Given the description of an element on the screen output the (x, y) to click on. 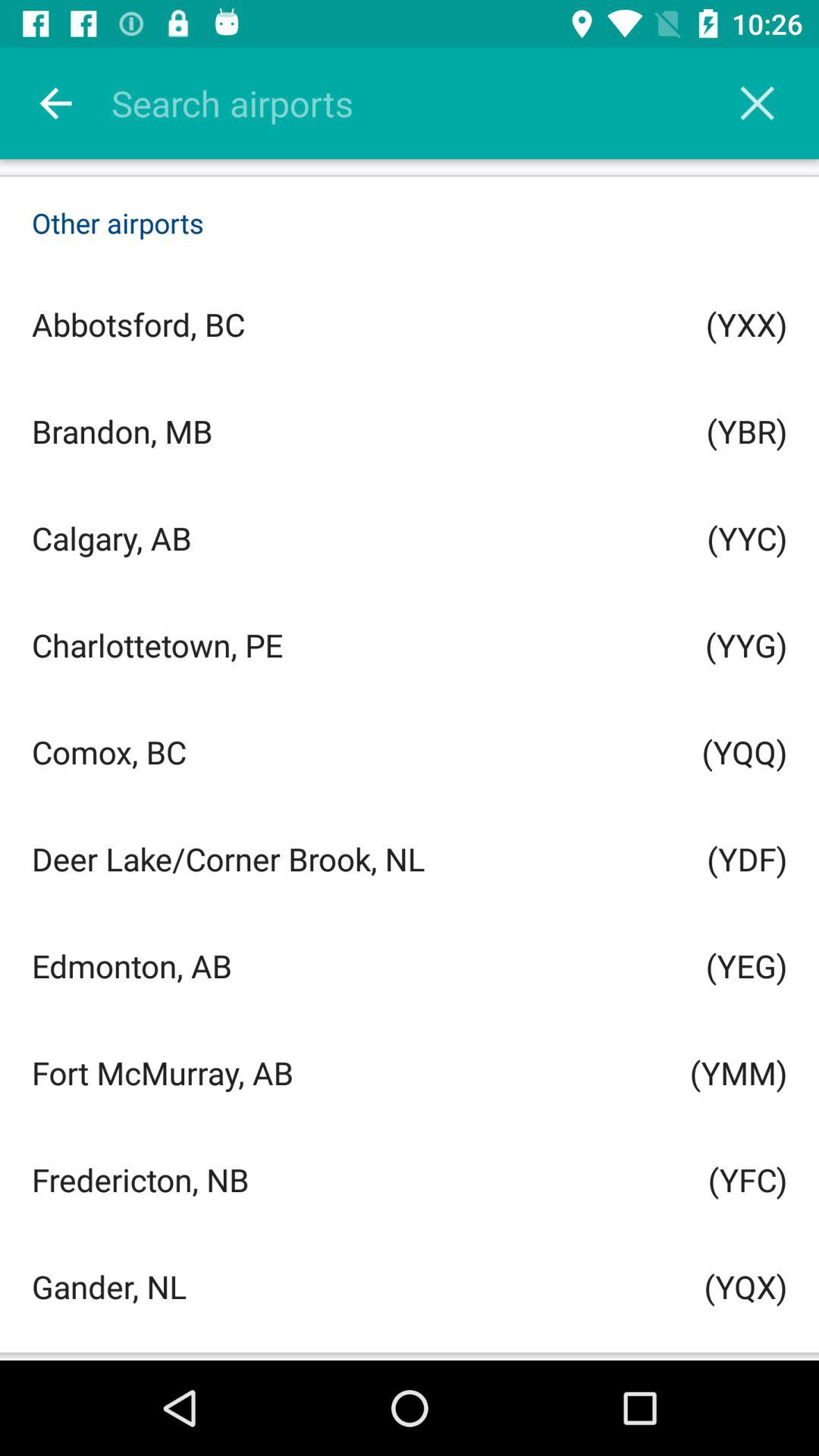
turn on the item above the other airports (55, 103)
